Given the description of an element on the screen output the (x, y) to click on. 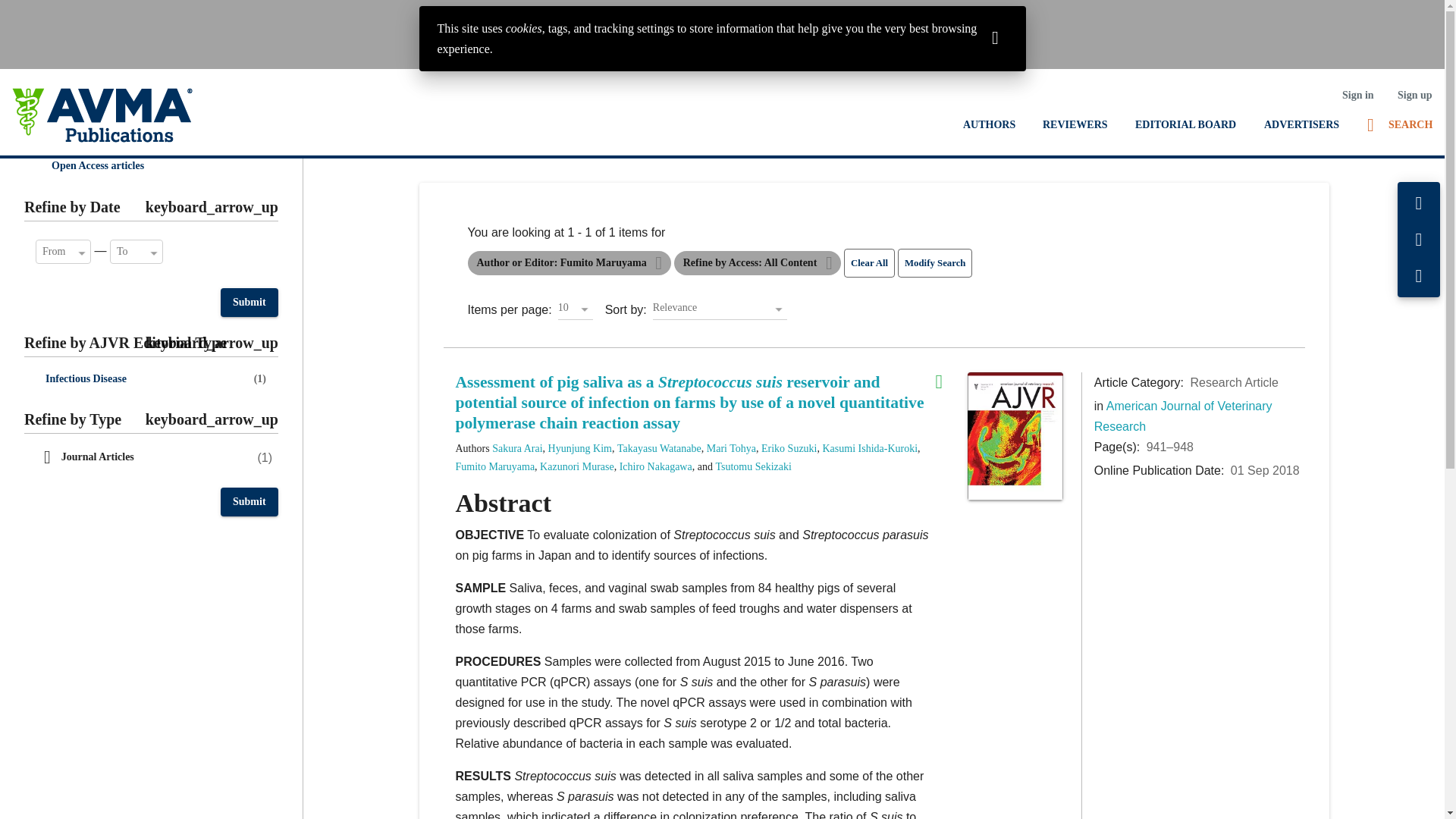
AUTHORS (988, 124)
Dismiss this warning (994, 37)
Sign in (1358, 95)
Jump to Content (45, 11)
